Given the description of an element on the screen output the (x, y) to click on. 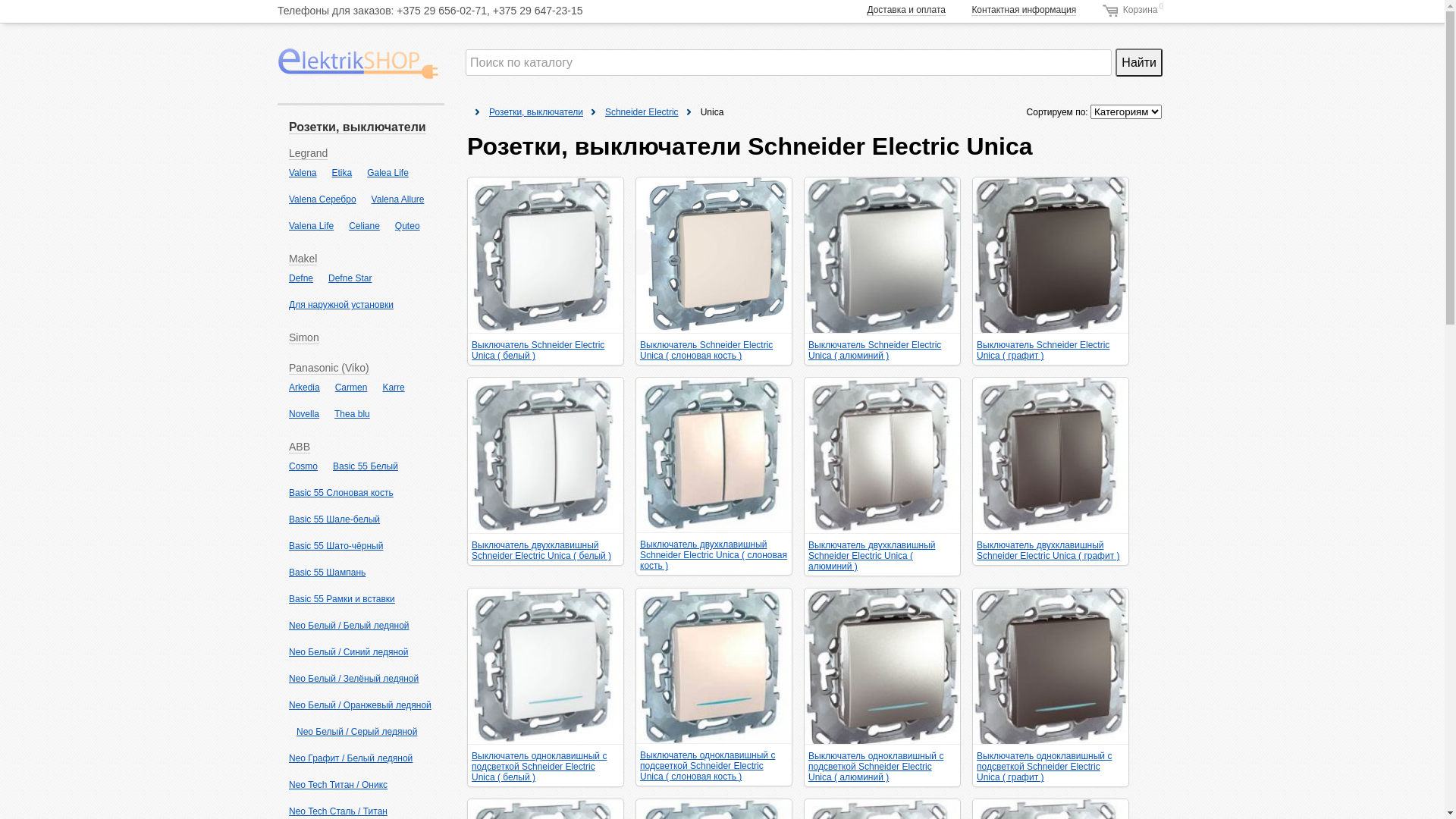
Cosmo Element type: text (302, 466)
Valena Element type: text (302, 172)
Makel Element type: text (302, 258)
Valena Allure Element type: text (397, 199)
Panasonic (Viko) Element type: text (328, 367)
Defne Element type: text (300, 278)
Celiane Element type: text (363, 225)
Simon Element type: text (303, 337)
Arkedia Element type: text (304, 387)
Quteo Element type: text (407, 225)
Schneider Electric Element type: text (641, 111)
Carmen Element type: text (351, 387)
ABB Element type: text (299, 446)
Valena Life Element type: text (310, 225)
Karre Element type: text (393, 387)
Legrand Element type: text (307, 153)
Defne Star Element type: text (349, 278)
Novella Element type: text (303, 413)
Etika Element type: text (341, 172)
Galea Life Element type: text (387, 172)
Thea blu Element type: text (352, 413)
